Given the description of an element on the screen output the (x, y) to click on. 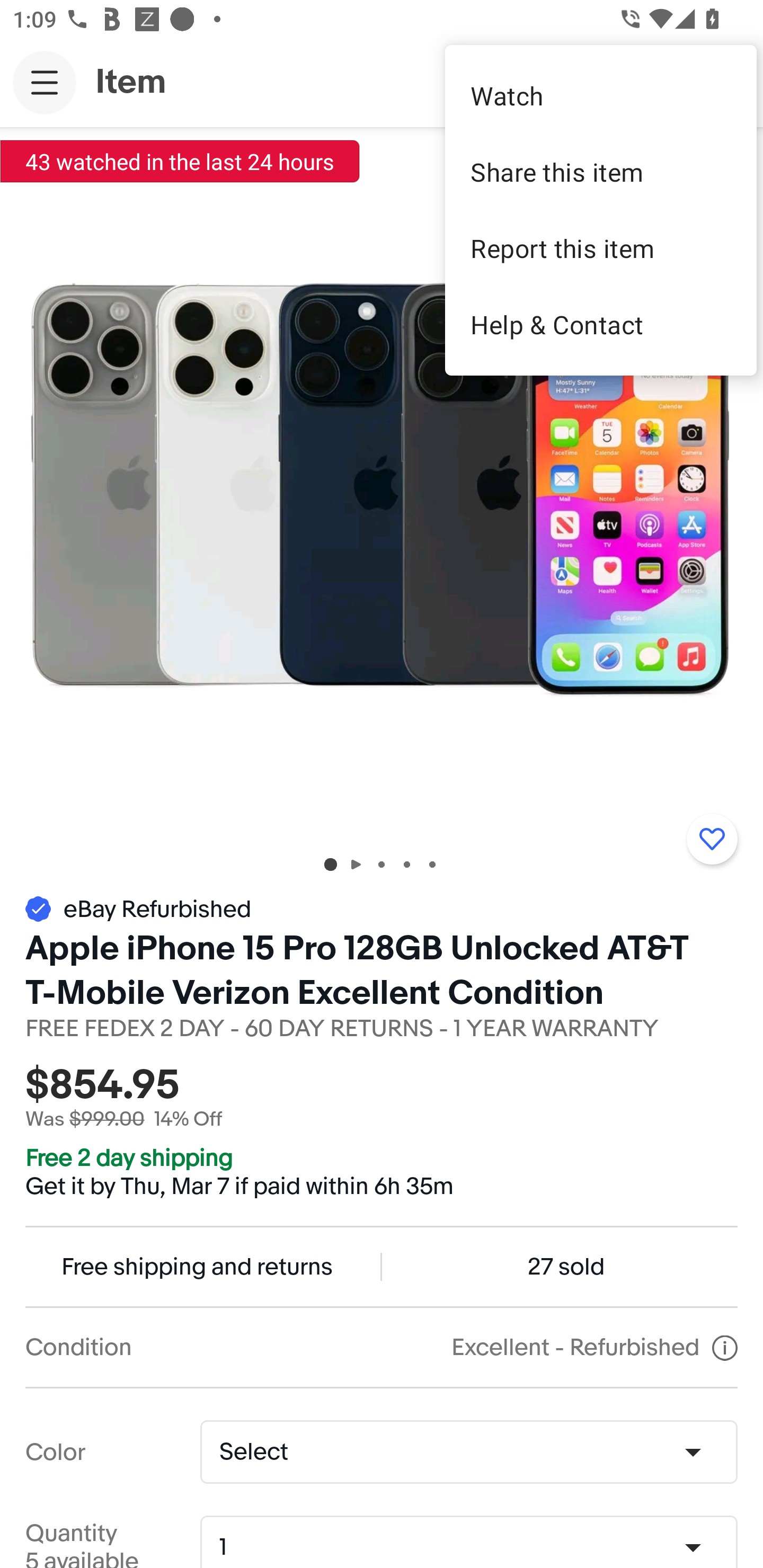
Watch (600, 95)
Share this item (600, 171)
Report this item (600, 248)
Help & Contact (600, 324)
